Given the description of an element on the screen output the (x, y) to click on. 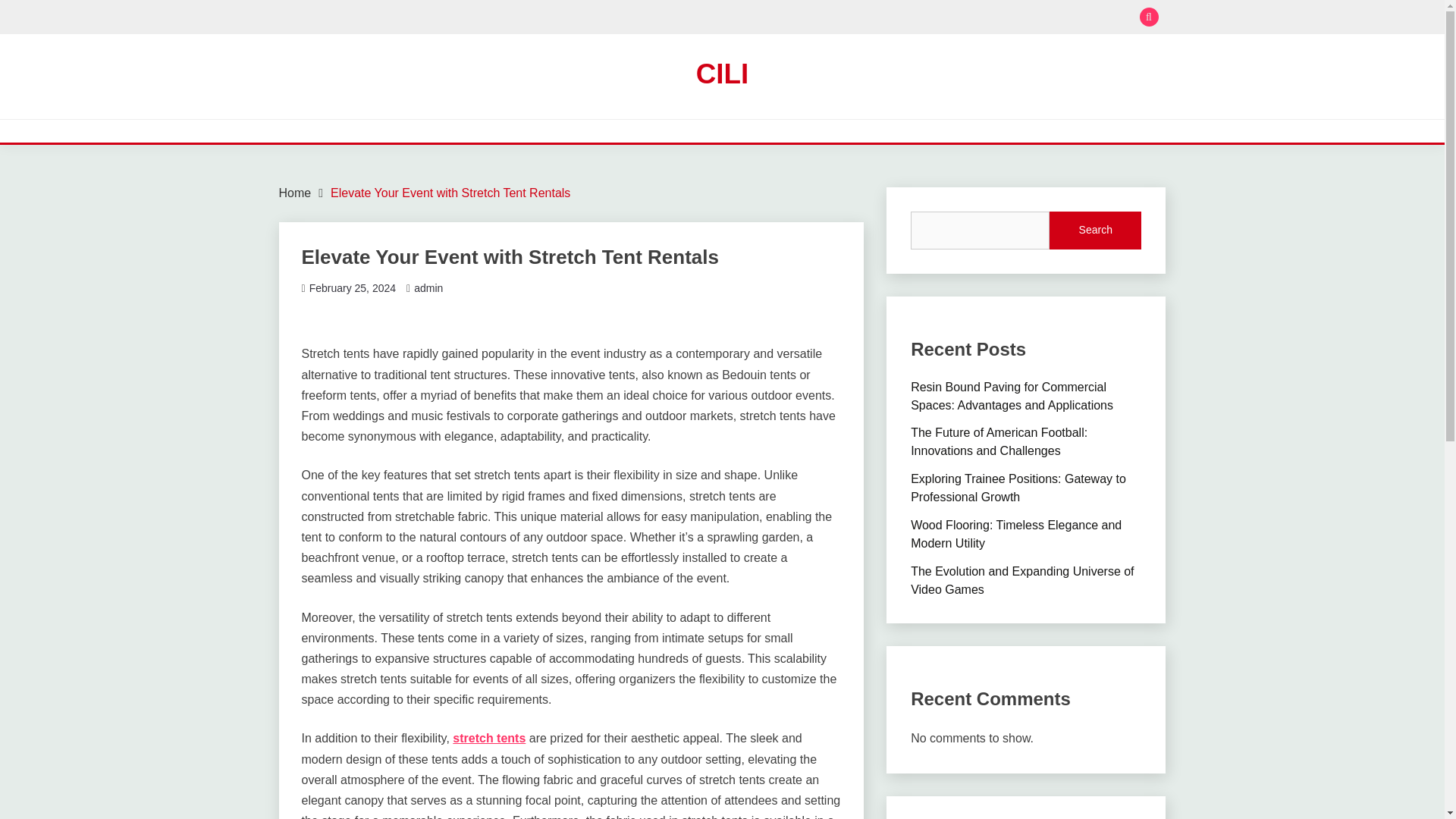
Wood Flooring: Timeless Elegance and Modern Utility (1016, 533)
Home (295, 192)
Elevate Your Event with Stretch Tent Rentals (450, 192)
February 25, 2024 (352, 287)
admin (427, 287)
Search (1095, 230)
The Future of American Football: Innovations and Challenges (999, 441)
stretch tents (488, 738)
Exploring Trainee Positions: Gateway to Professional Growth (1018, 487)
